Given the description of an element on the screen output the (x, y) to click on. 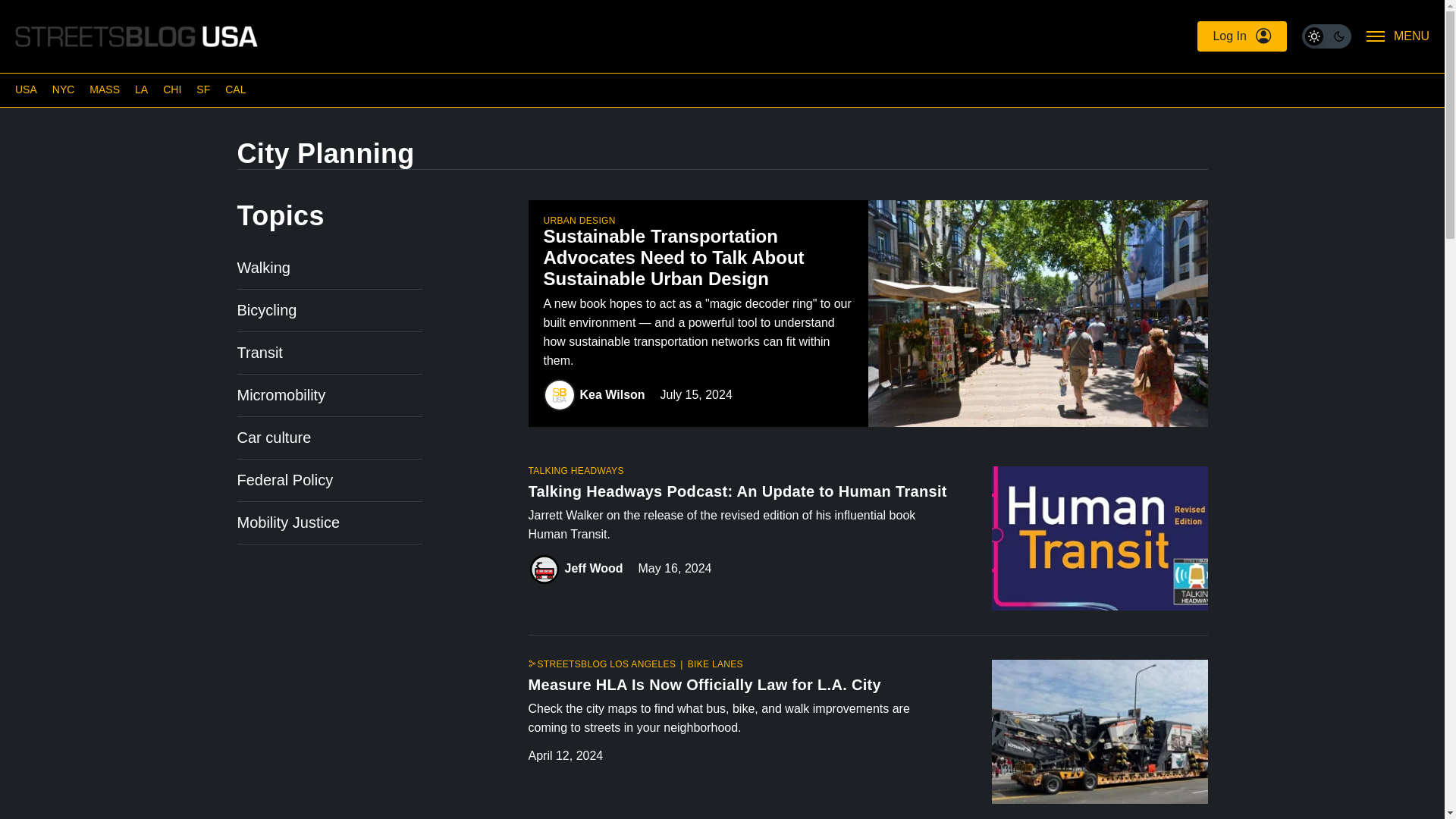
MASS (103, 89)
Micromobility (279, 394)
Mobility Justice (287, 522)
URBAN DESIGN (578, 221)
Log In (1240, 36)
Walking (262, 267)
Car culture (273, 437)
Federal Policy (284, 479)
NYC (63, 89)
Bicycling (266, 310)
MENU (1398, 36)
Transit (258, 352)
CAL (235, 89)
CHI (171, 89)
